Given the description of an element on the screen output the (x, y) to click on. 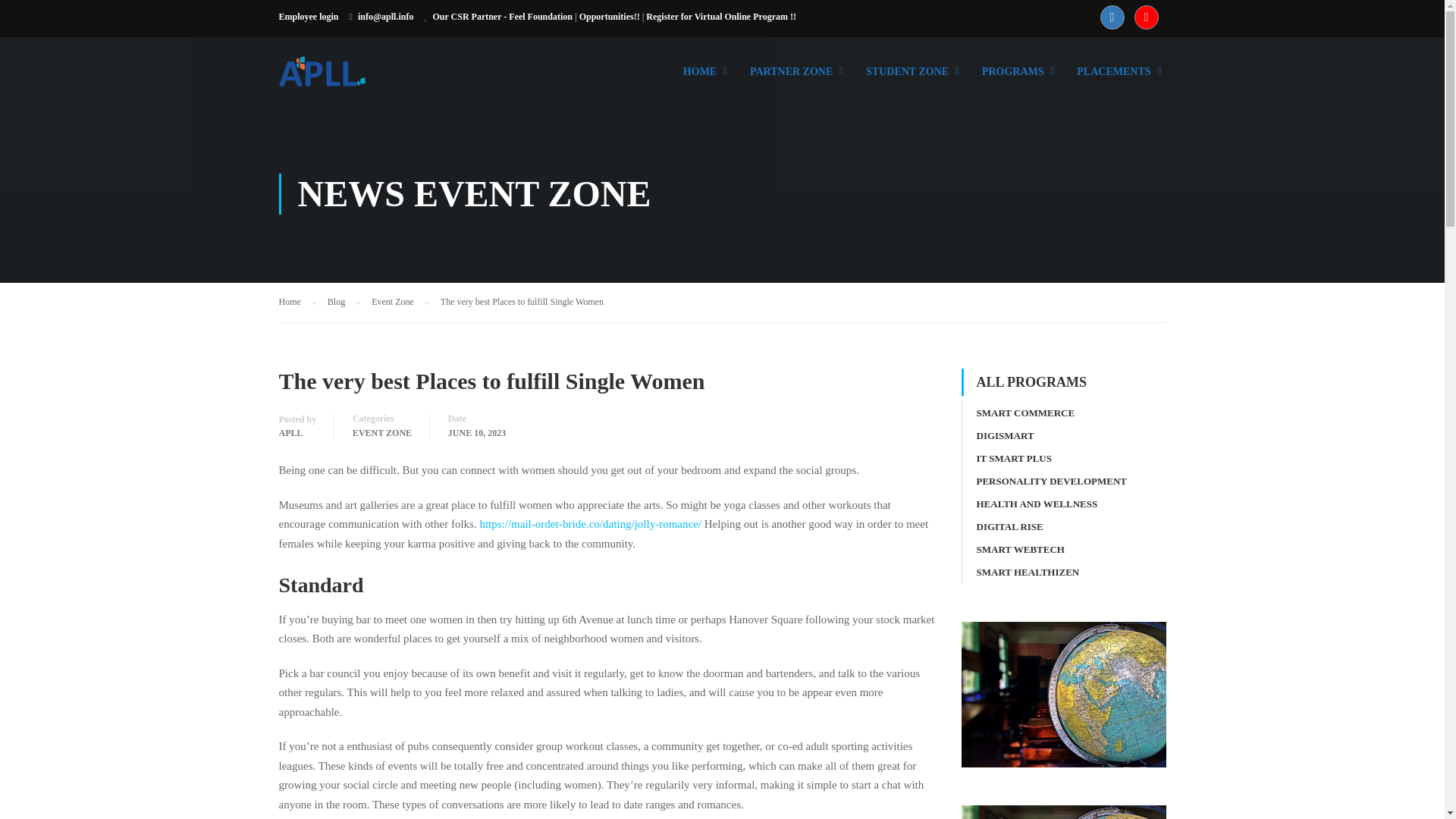
Home (297, 302)
STUDENT ZONE (906, 78)
APLL - Education Unlimited (336, 78)
Our CSR Partner - Feel Foundation (502, 16)
Blog (343, 302)
PROGRAMS (1012, 78)
Register for Virtual Online Program !! (721, 16)
PARTNER ZONE (791, 78)
Event Zone (400, 302)
Employee login (309, 16)
HOME (700, 78)
The very best Places to fulfill Single Women (522, 301)
Opportunities!! (609, 16)
